Given the description of an element on the screen output the (x, y) to click on. 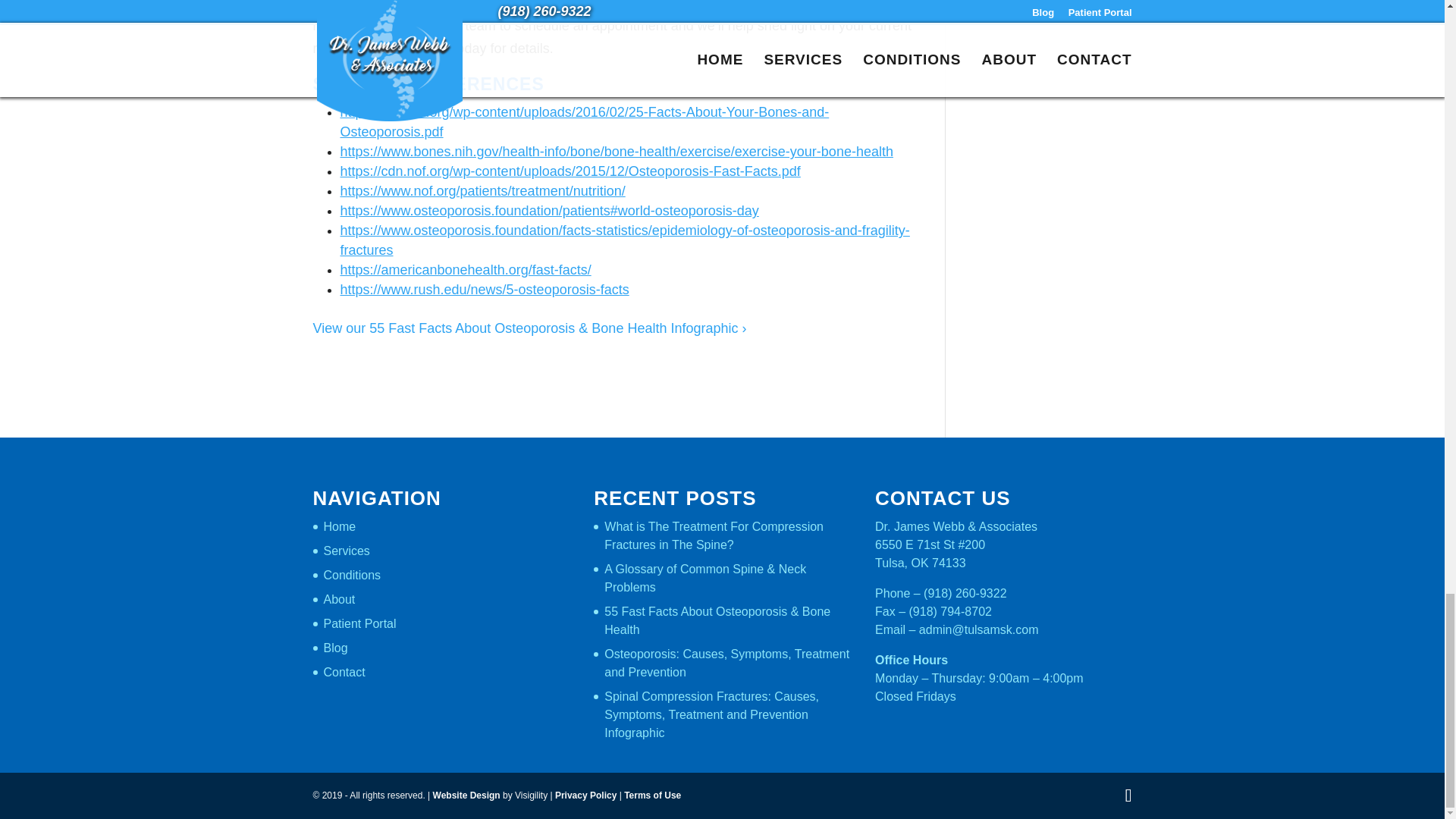
Home (339, 526)
Services (346, 550)
